Given the description of an element on the screen output the (x, y) to click on. 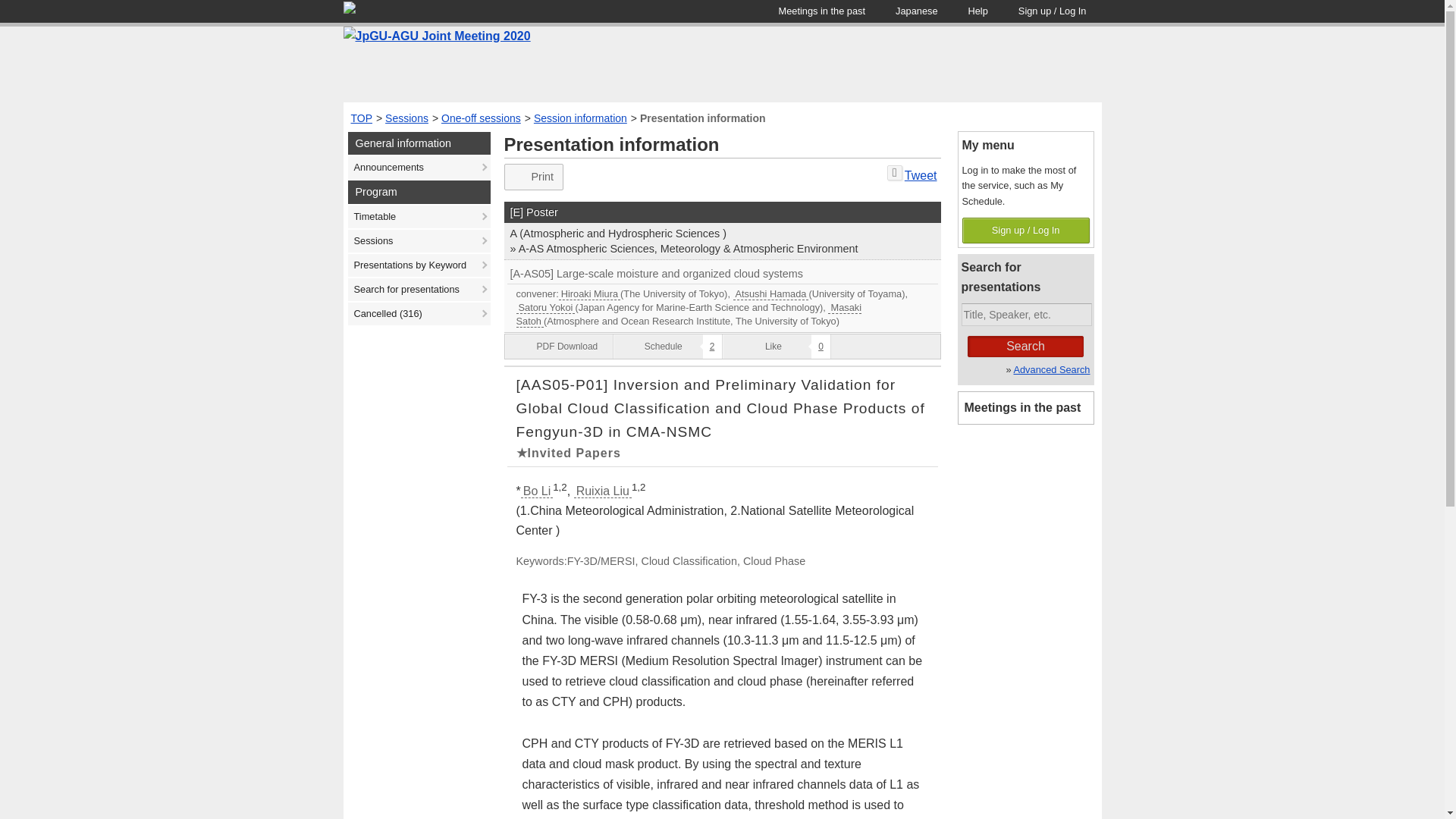
Search (1025, 346)
Bo Li (537, 490)
Presentations by Keyword (418, 264)
Announcements (418, 167)
Timetable (418, 216)
Add to or remove from my schedule (667, 346)
Meetings in the past (821, 11)
Print (533, 176)
One-off sessions (481, 118)
Convener, Chairperson (721, 307)
